Given the description of an element on the screen output the (x, y) to click on. 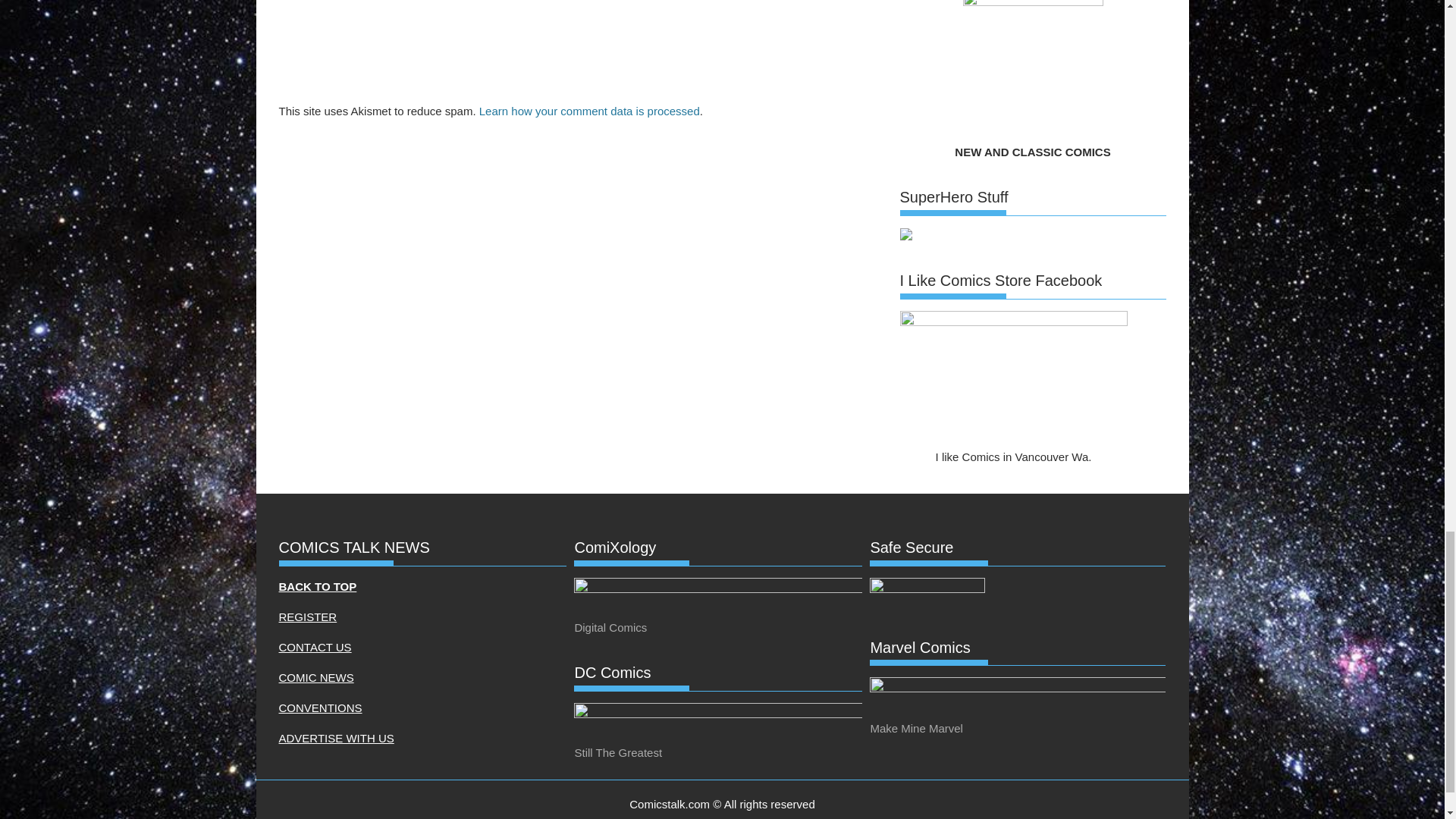
Comment Form (580, 48)
